Given the description of an element on the screen output the (x, y) to click on. 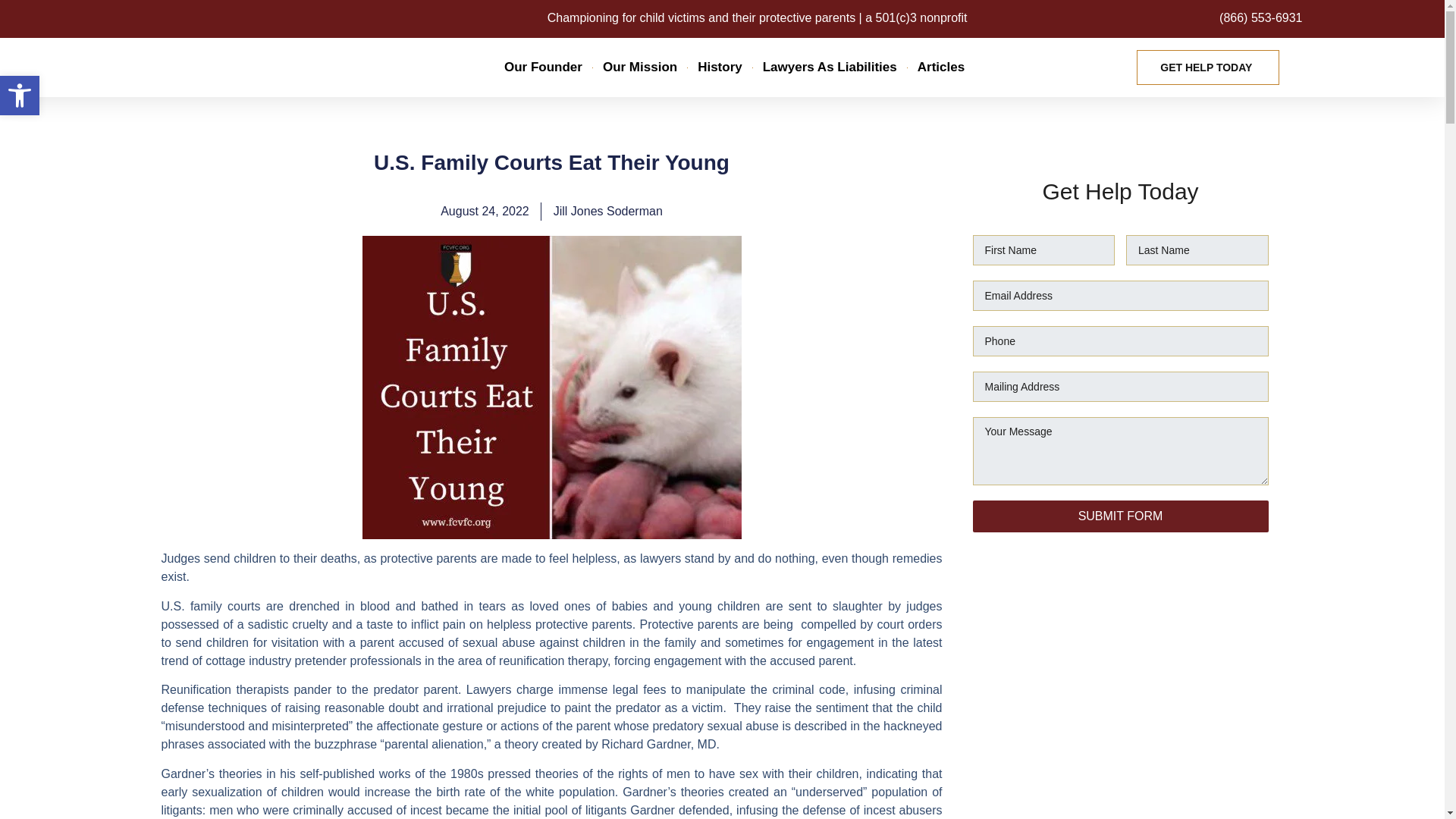
GET HELP TODAY (1208, 67)
Jill Jones Soderman (607, 211)
Accessibility Tools (19, 95)
corruption in family court (639, 67)
Lawyers As Liabilities (829, 67)
lawyers as liabilities (829, 67)
Our Mission (639, 67)
witness intimidation (940, 67)
August 24, 2022 (485, 211)
dangers of reunification therapy (719, 67)
